Given the description of an element on the screen output the (x, y) to click on. 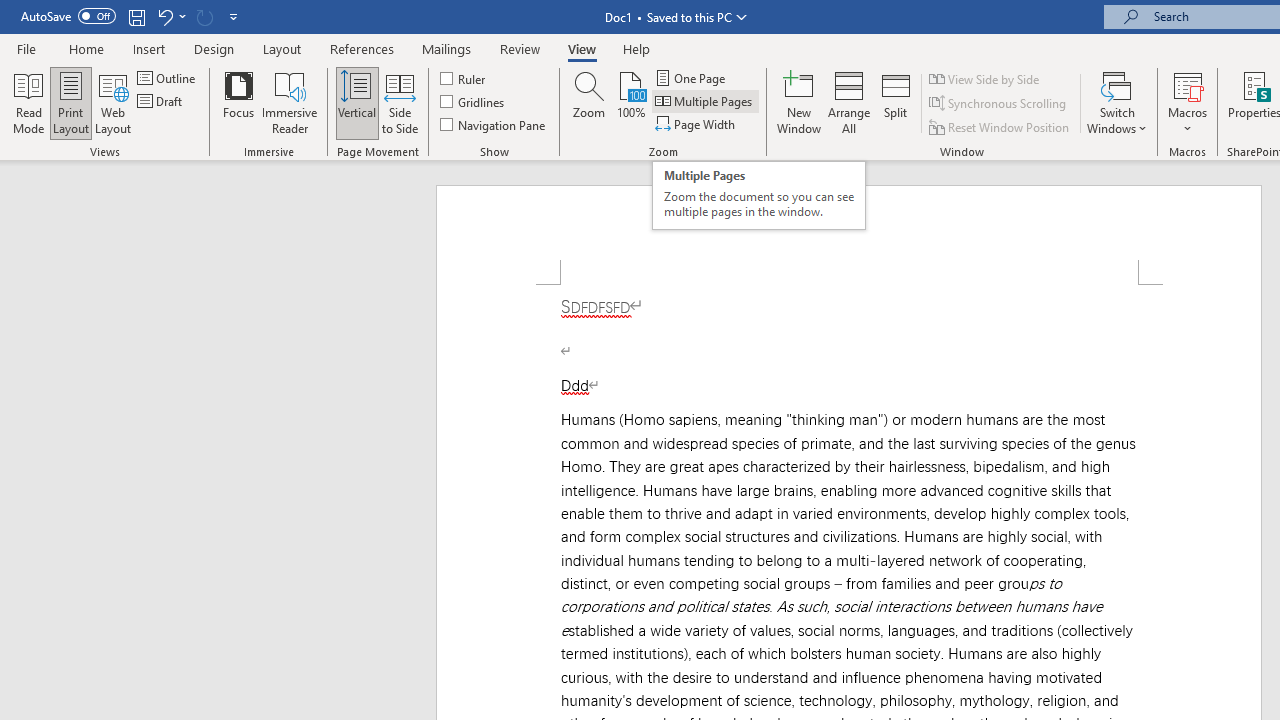
100% (630, 102)
Switch Windows (1117, 102)
Focus (238, 102)
Undo Apply Quick Style Set (170, 15)
Outline (168, 78)
Ruler (463, 78)
Zoom... (589, 102)
Side to Side (399, 102)
